Given the description of an element on the screen output the (x, y) to click on. 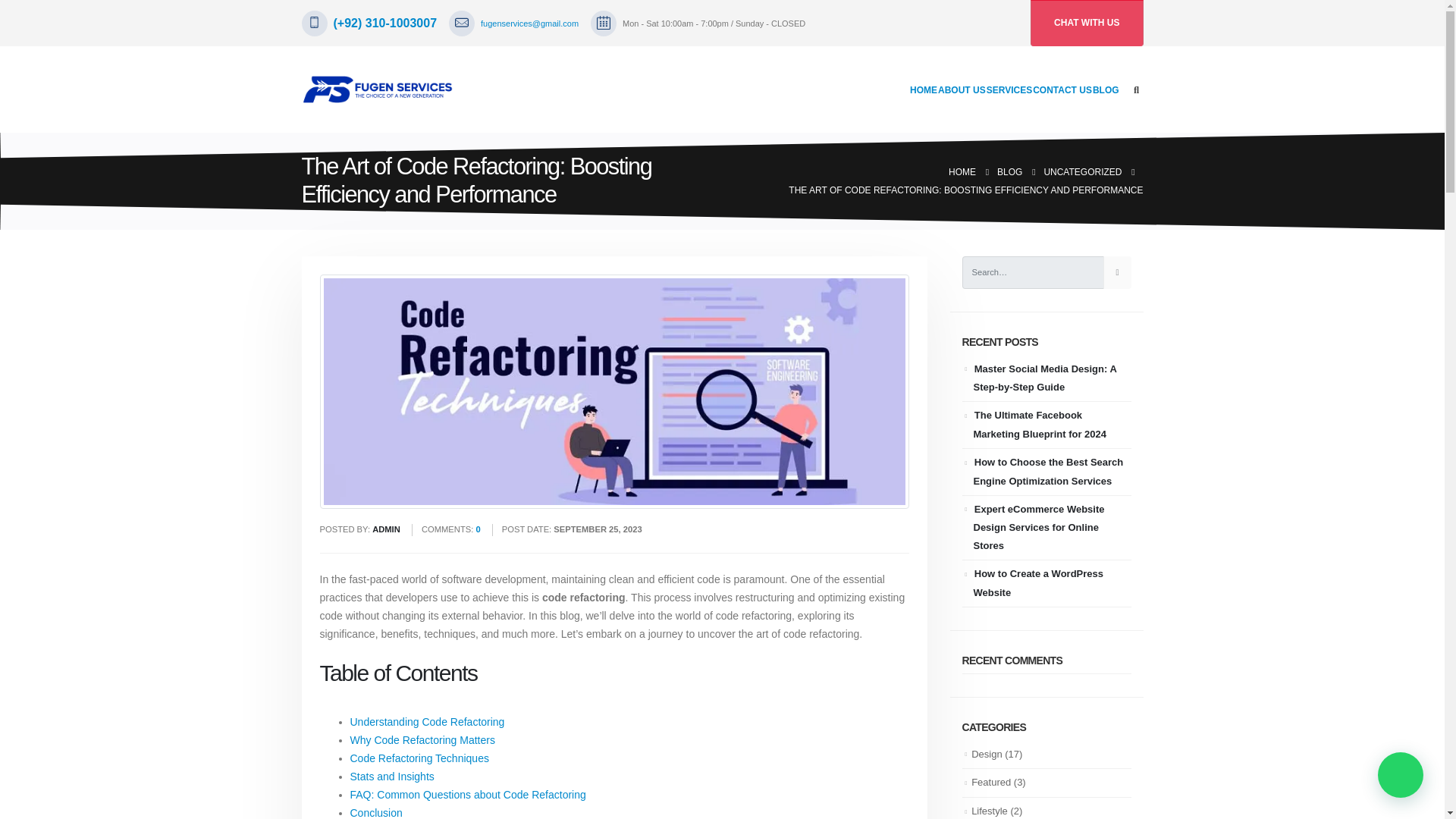
Understanding Code Refactoring (427, 721)
ABOUT US (961, 89)
SERVICES (1009, 89)
Stats and Insights (391, 776)
HOME (962, 171)
Fugen Services - Web Design and Development Agency (376, 89)
BLOG (1009, 171)
Go to Home Page (962, 171)
CHAT WITH US (1086, 22)
Why Code Refactoring Matters (422, 739)
Code Refactoring Techniques (419, 758)
CONTACT US (1062, 89)
HOME (923, 89)
BLOG (1106, 89)
UNCATEGORIZED (1082, 171)
